Given the description of an element on the screen output the (x, y) to click on. 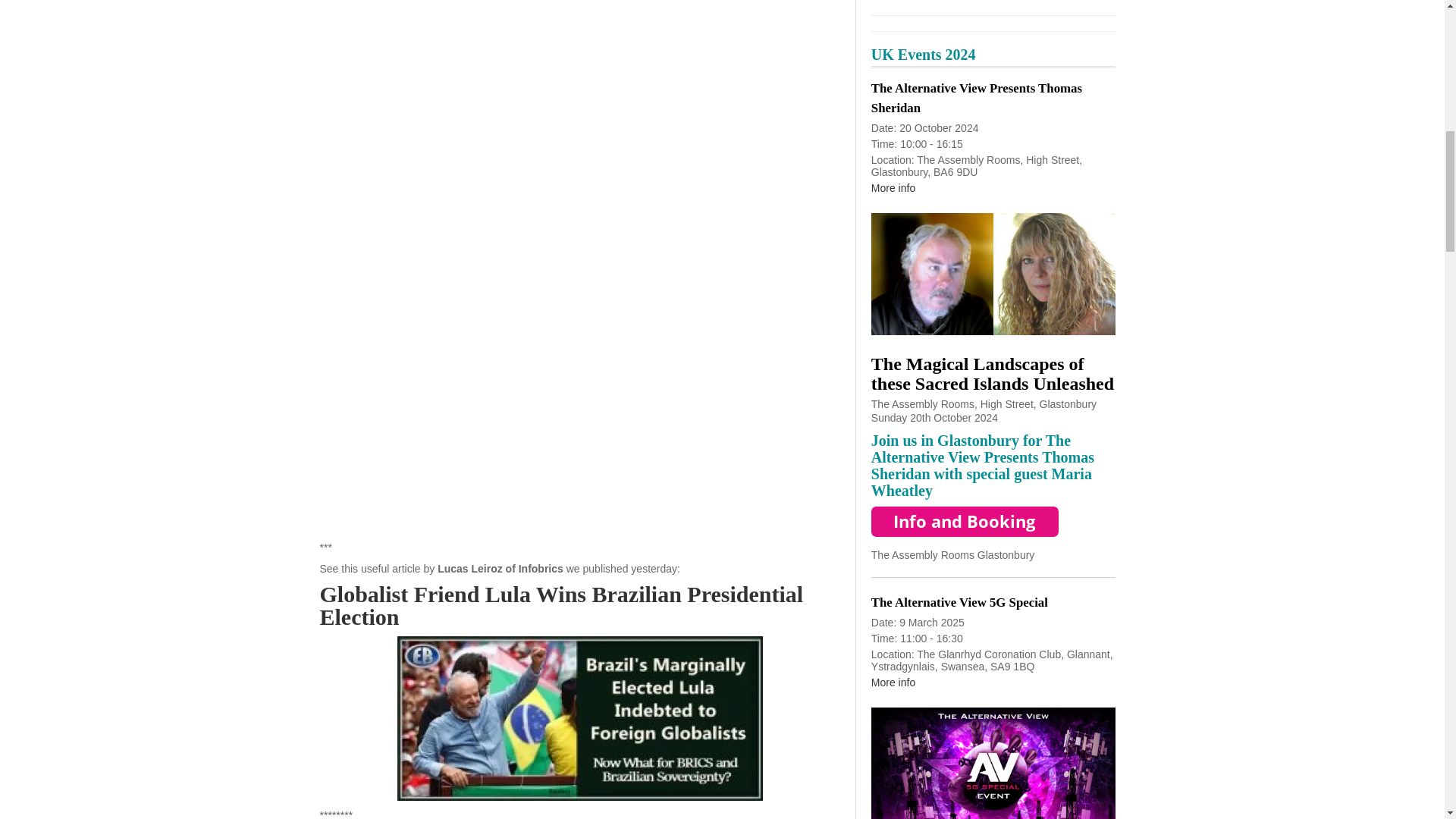
Twitter Tweet (433, 459)
More info (892, 187)
Twitter Tweet (433, 52)
Twitter Tweet (433, 323)
More info (892, 682)
Globalist Friend Lula Wins Brazilian Presidential Election (561, 605)
Twitter Tweet (433, 185)
